Given the description of an element on the screen output the (x, y) to click on. 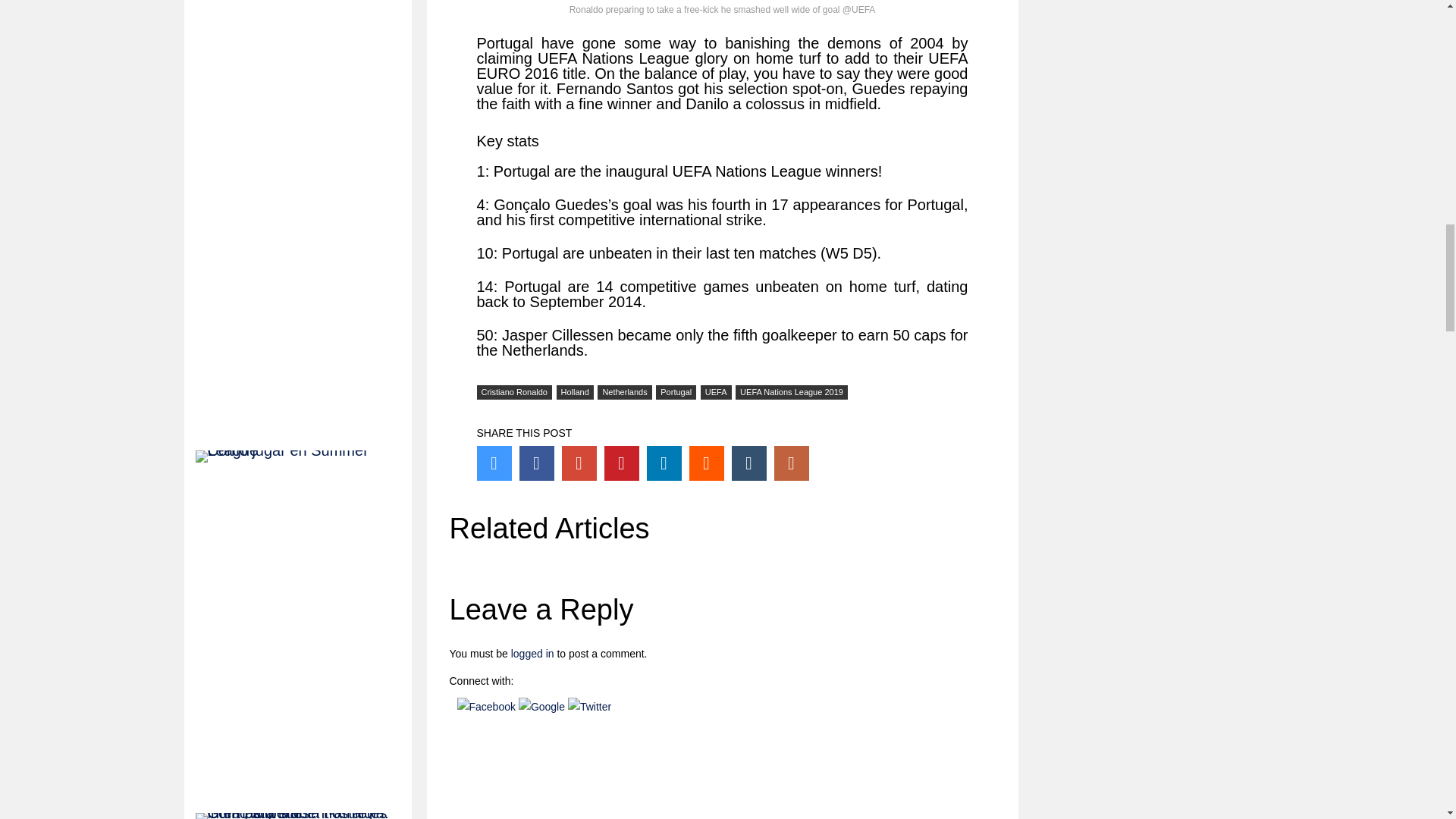
Twitter (493, 462)
Facebook (535, 462)
